Given the description of an element on the screen output the (x, y) to click on. 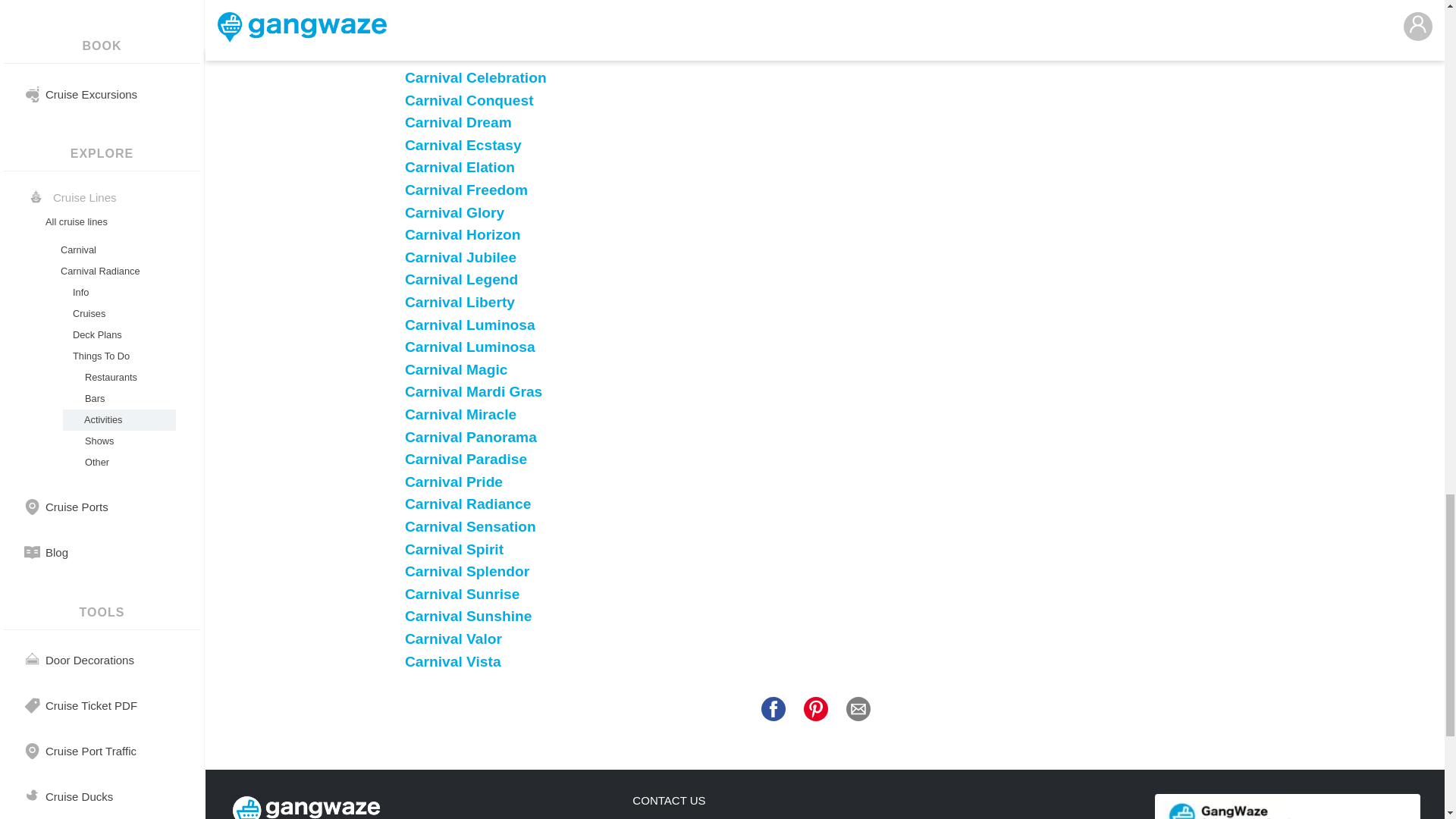
Carnival Horizon (461, 234)
Carnival Glory (453, 212)
Carnival Liberty (459, 302)
Carnival Breeze (458, 55)
Carnival Ecstasy (462, 145)
Carnival Jubilee (460, 257)
Carnival Elation (459, 166)
Carnival Freedom (465, 189)
Carnival Legend (461, 279)
Carnival Conquest (469, 100)
Carnival Celebration (475, 77)
Carnival Dream (458, 122)
